Given the description of an element on the screen output the (x, y) to click on. 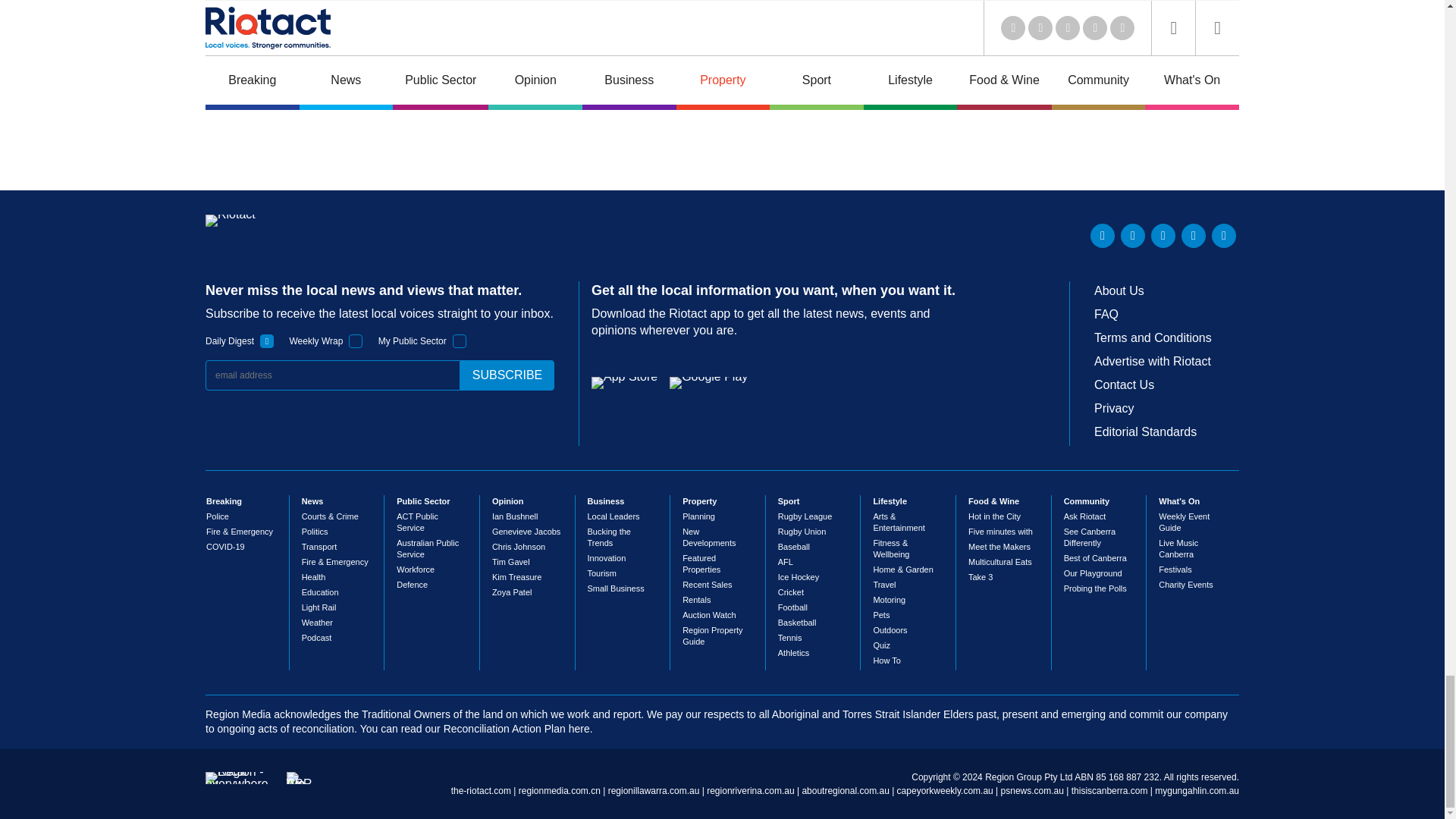
subscribe (507, 375)
1 (266, 341)
LinkedIn (1102, 234)
1 (458, 341)
1 (355, 341)
